Given the description of an element on the screen output the (x, y) to click on. 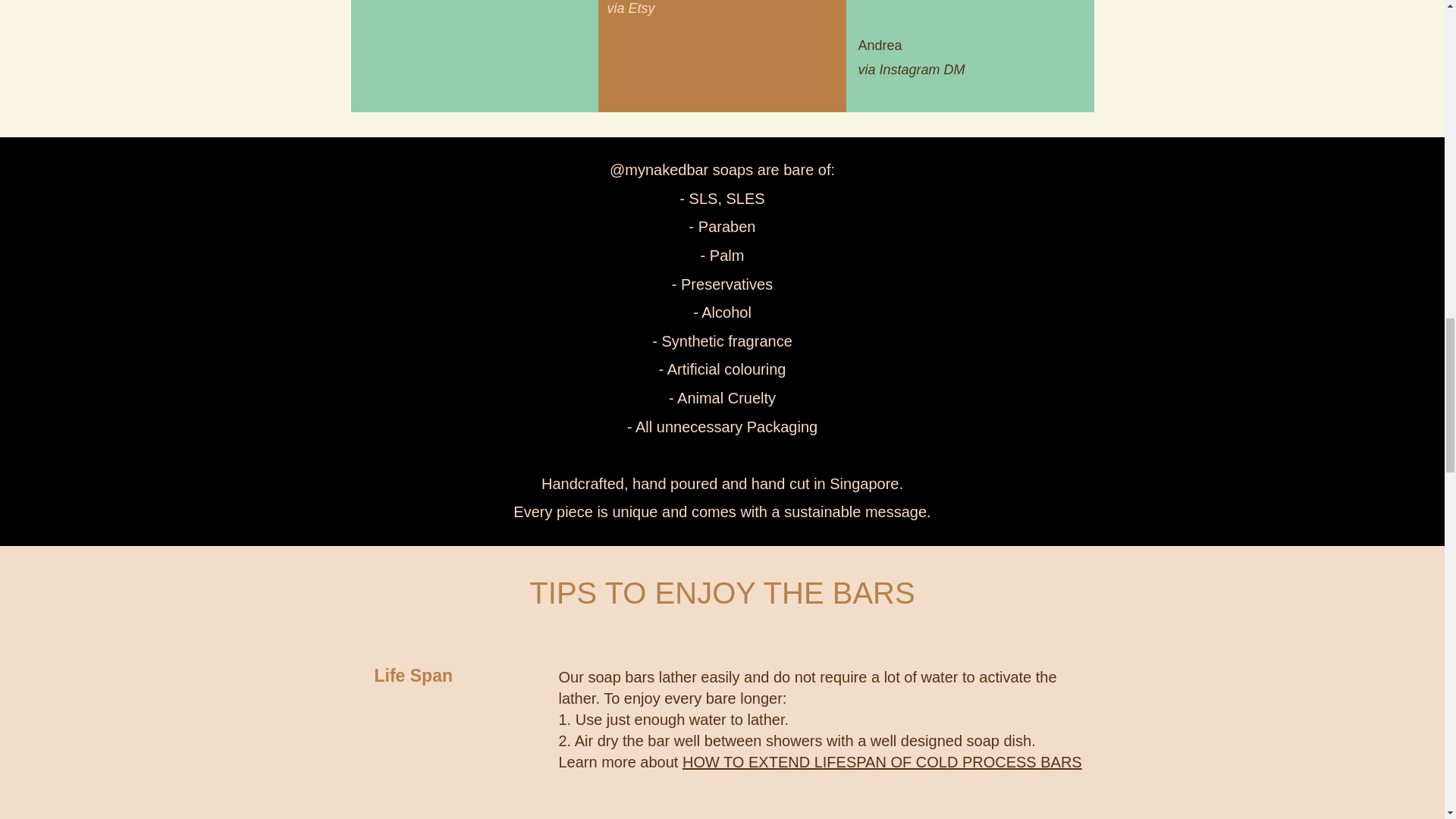
HOW TO EXTEND LIFESPAN OF COLD PROCESS BARS (881, 761)
